Given the description of an element on the screen output the (x, y) to click on. 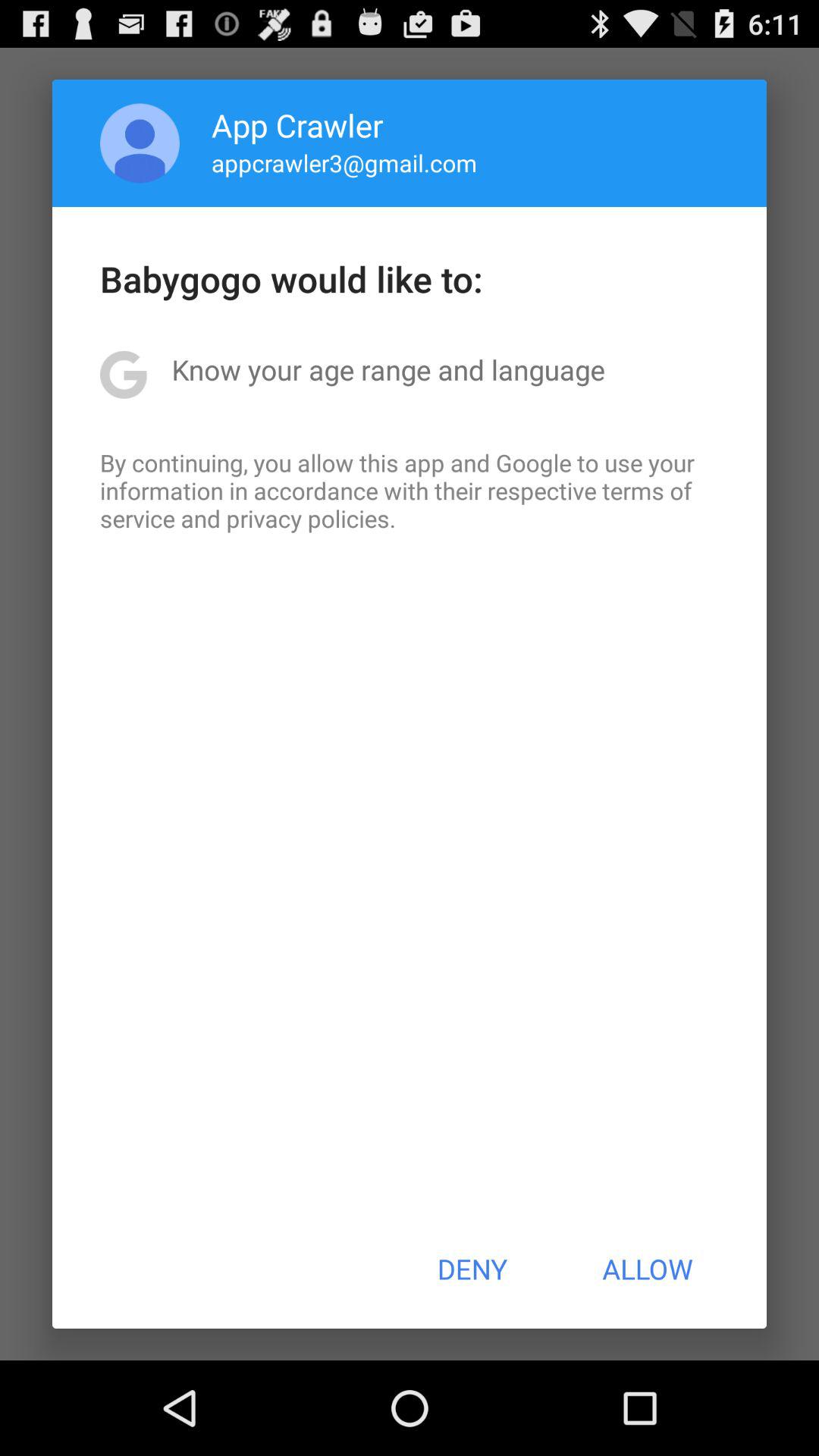
choose the appcrawler3@gmail.com app (344, 162)
